Given the description of an element on the screen output the (x, y) to click on. 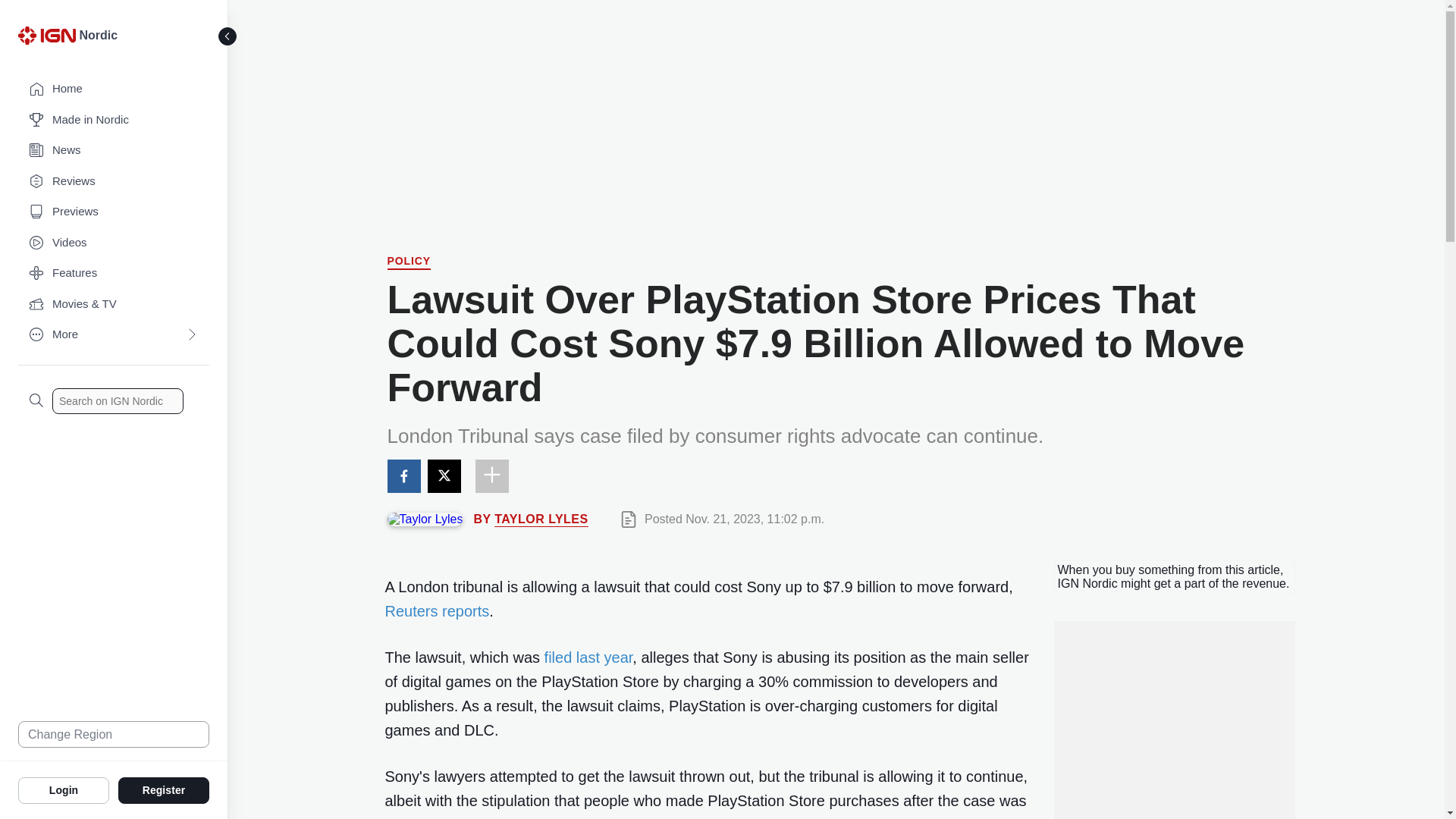
Features (113, 273)
More (113, 334)
News (113, 150)
Previews (113, 211)
IGN Logo (46, 34)
Reviews (113, 181)
Toggle Sidebar (226, 36)
Reuters reports (437, 610)
IGN Logo (48, 39)
Login (63, 789)
Register (163, 789)
Policy (408, 262)
POLICY (408, 262)
TAYLOR LYLES (541, 518)
Made in Nordic (113, 119)
